Given the description of an element on the screen output the (x, y) to click on. 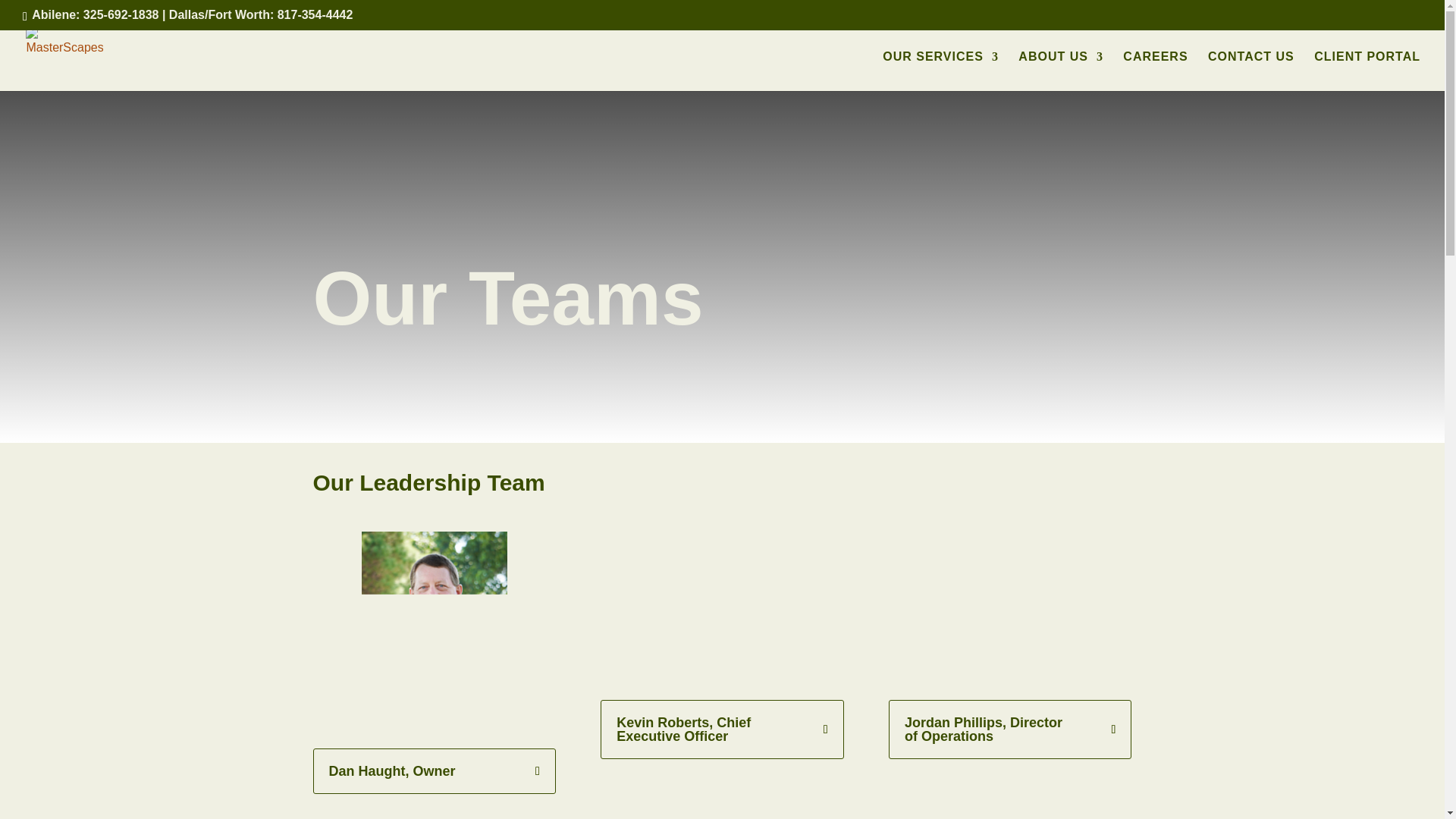
Owner (433, 628)
817-354-4442 (315, 14)
OUR SERVICES (940, 70)
325-692-1838 (120, 14)
CLIENT PORTAL (1367, 70)
ABOUT US (1060, 70)
CONTACT US (1251, 70)
CAREERS (1155, 70)
